Given the description of an element on the screen output the (x, y) to click on. 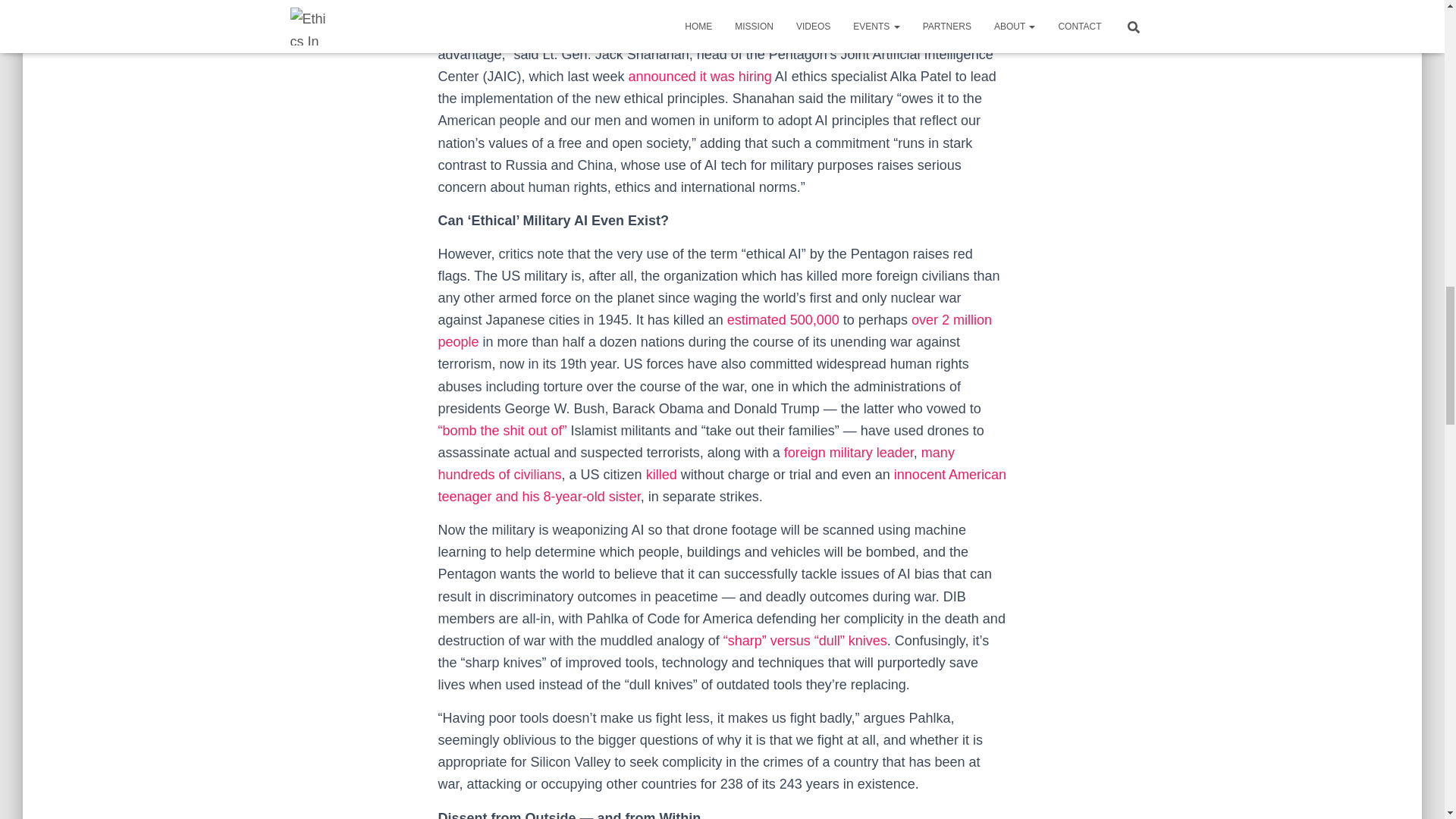
over 2 million people (714, 330)
announced it was hiring (699, 76)
many hundreds of civilians (696, 463)
foreign military leader (849, 452)
killed (661, 474)
estimated 500,000 (783, 319)
innocent American teenager and his 8-year-old sister (722, 485)
